Given the description of an element on the screen output the (x, y) to click on. 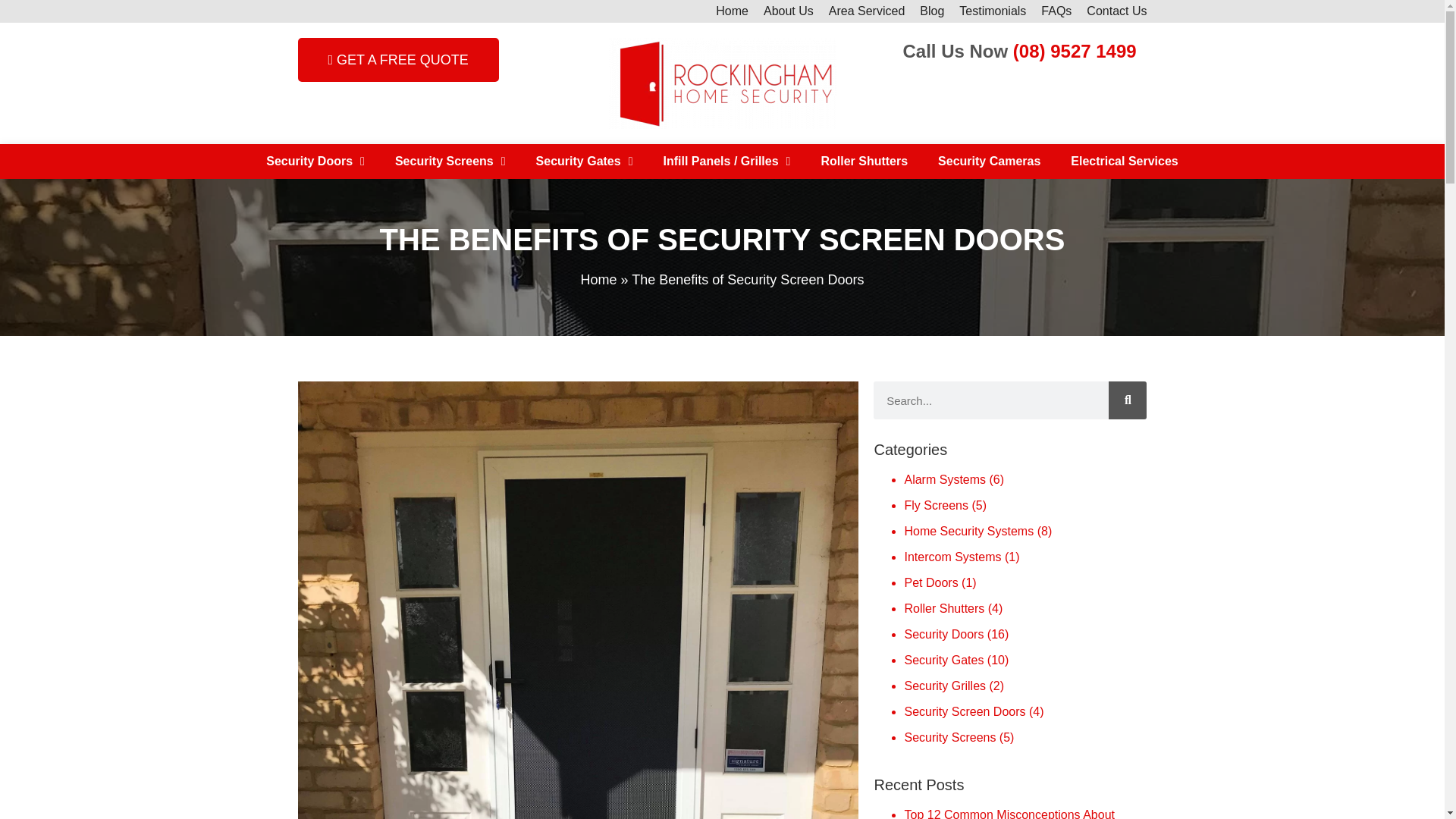
Security Gates (584, 161)
About Us (788, 11)
Contact Us (1116, 11)
Area Serviced (866, 11)
Testimonials (992, 11)
Home (731, 11)
FAQs (1055, 11)
Security Screens (450, 161)
Security Doors (315, 161)
Blog (932, 11)
GET A FREE QUOTE (397, 59)
